Given the description of an element on the screen output the (x, y) to click on. 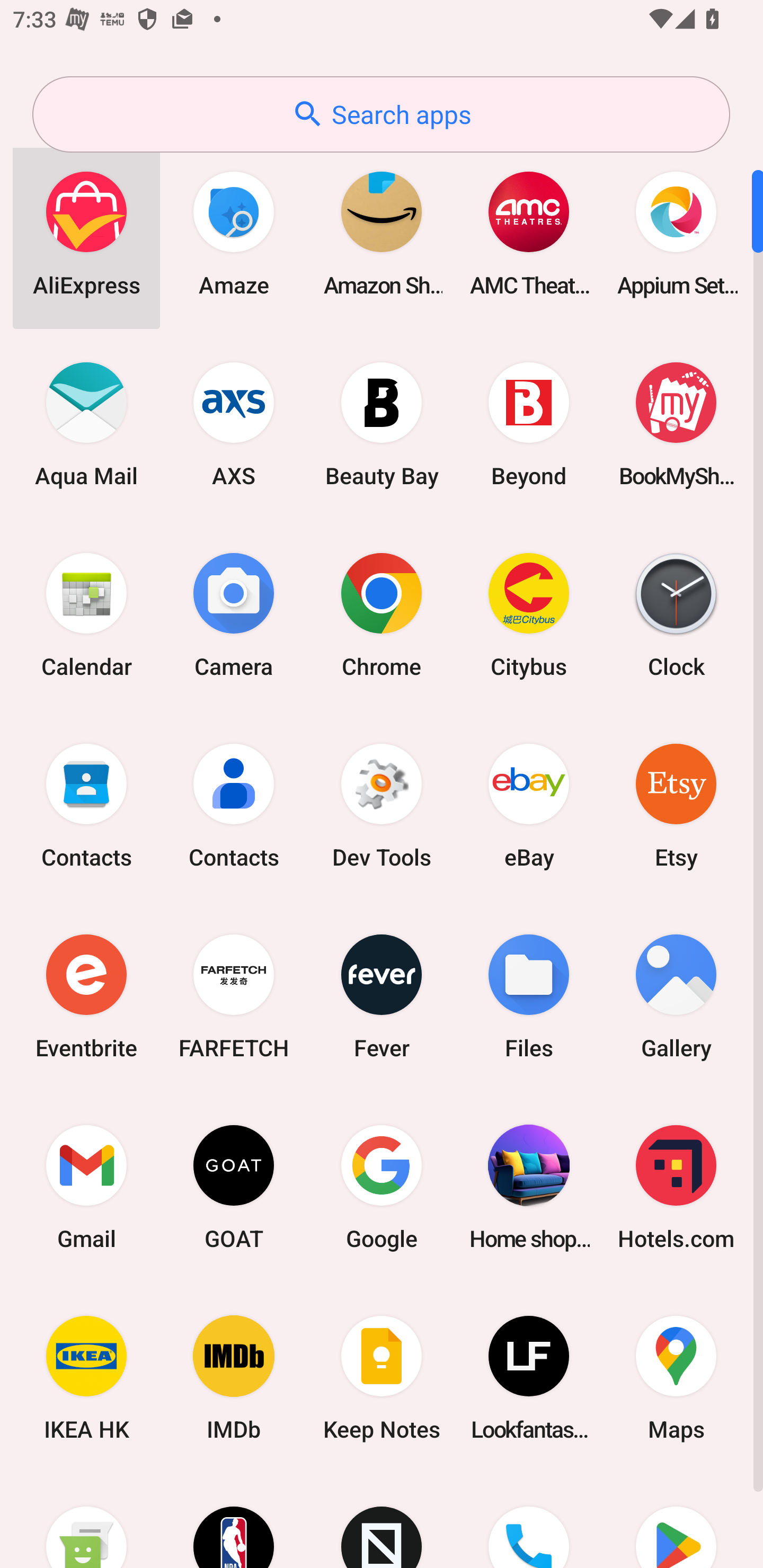
  Search apps (381, 114)
AliExpress (86, 233)
Amaze (233, 233)
Amazon Shopping (381, 233)
AMC Theatres (528, 233)
Appium Settings (676, 233)
Aqua Mail (86, 424)
AXS (233, 424)
Beauty Bay (381, 424)
Beyond (528, 424)
BookMyShow (676, 424)
Calendar (86, 614)
Camera (233, 614)
Chrome (381, 614)
Citybus (528, 614)
Clock (676, 614)
Contacts (86, 805)
Contacts (233, 805)
Dev Tools (381, 805)
eBay (528, 805)
Etsy (676, 805)
Eventbrite (86, 996)
FARFETCH (233, 996)
Fever (381, 996)
Files (528, 996)
Gallery (676, 996)
Gmail (86, 1186)
GOAT (233, 1186)
Google (381, 1186)
Home shopping (528, 1186)
Hotels.com (676, 1186)
IKEA HK (86, 1377)
IMDb (233, 1377)
Keep Notes (381, 1377)
Lookfantastic (528, 1377)
Maps (676, 1377)
Messaging (86, 1520)
NBA (233, 1520)
Novelship (381, 1520)
Phone (528, 1520)
Play Store (676, 1520)
